Given the description of an element on the screen output the (x, y) to click on. 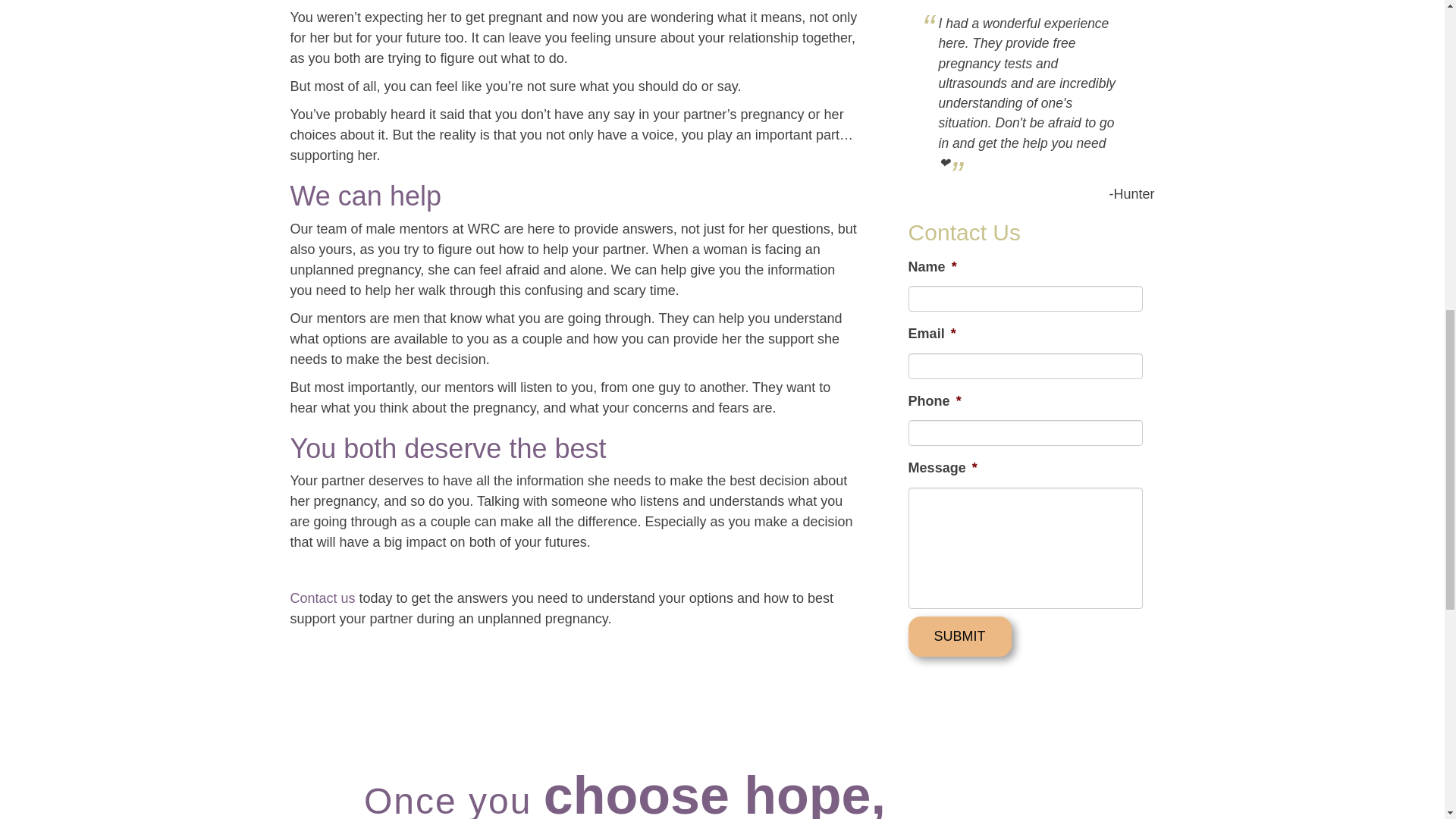
Submit (959, 636)
Contact us (322, 598)
Submit (959, 636)
